Given the description of an element on the screen output the (x, y) to click on. 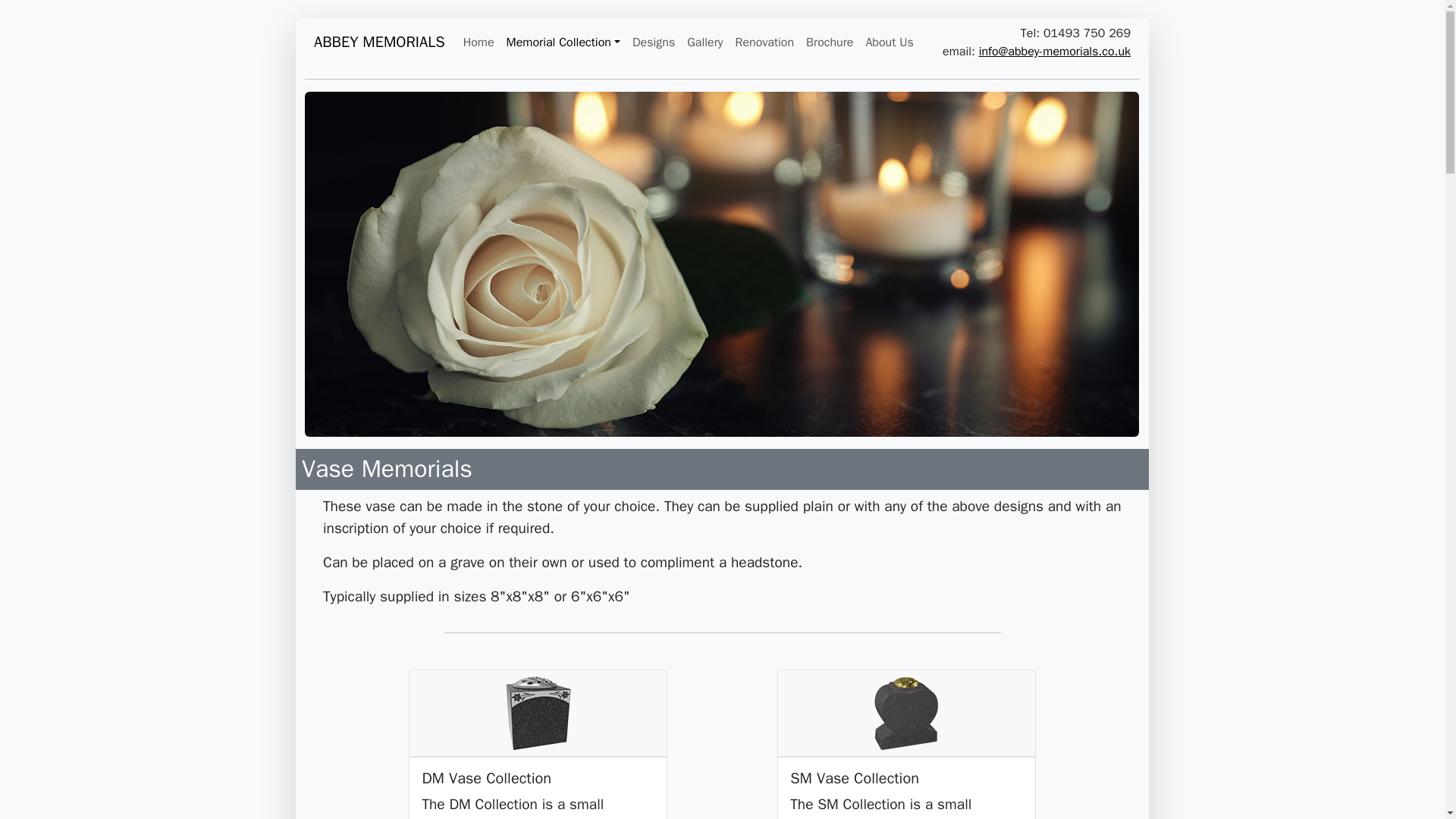
Gallery (705, 42)
Home (478, 42)
Brochure (829, 42)
About Us (888, 42)
Designs (653, 42)
Memorial Collection (563, 42)
Renovation (764, 42)
ABBEY MEMORIALS (379, 42)
